Given the description of an element on the screen output the (x, y) to click on. 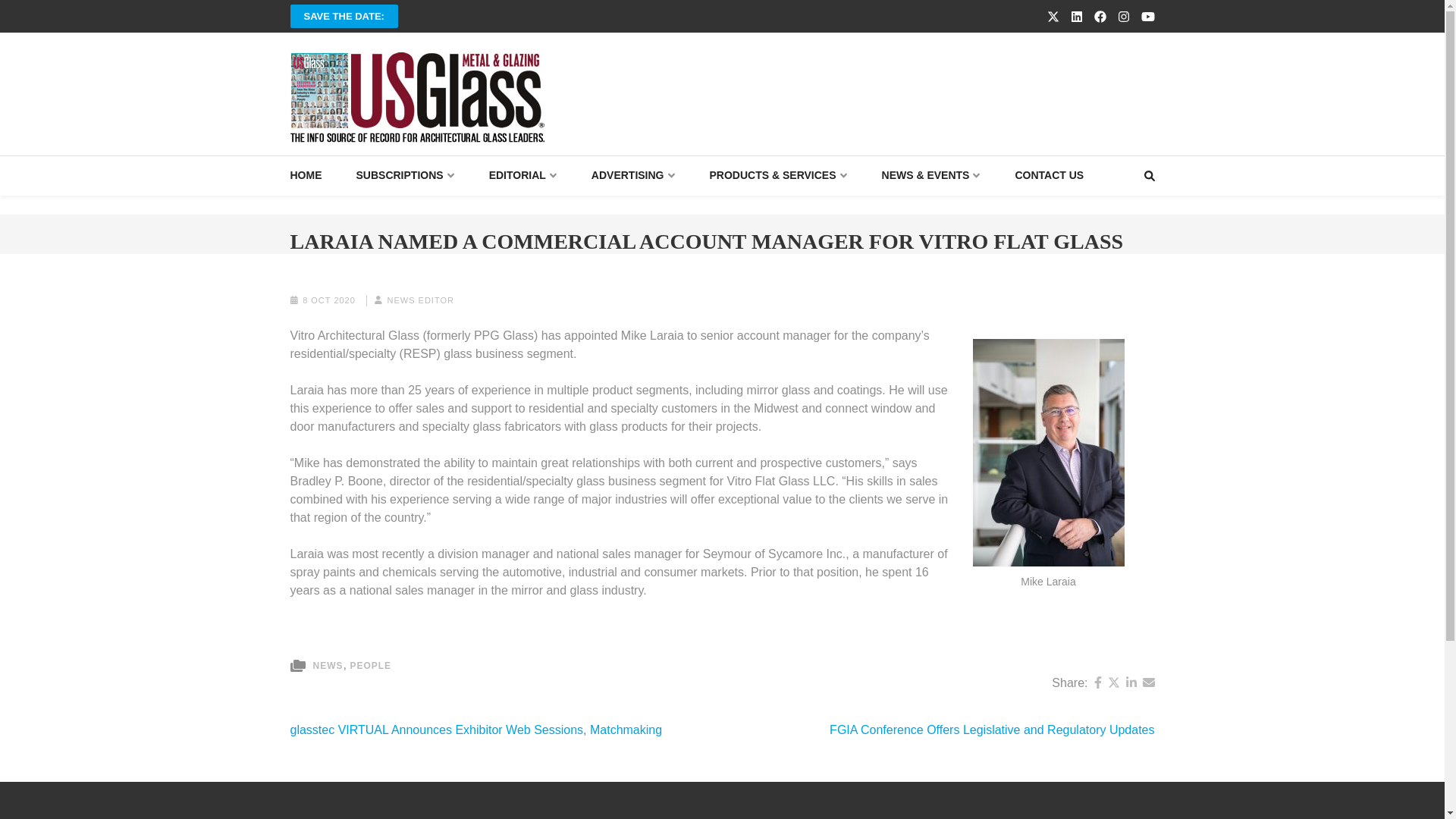
EDITORIAL (523, 175)
SAVE THE DATE: (343, 15)
ADVERTISING (633, 175)
SUBSCRIPTIONS (405, 175)
CONTACT US (1048, 175)
